Given the description of an element on the screen output the (x, y) to click on. 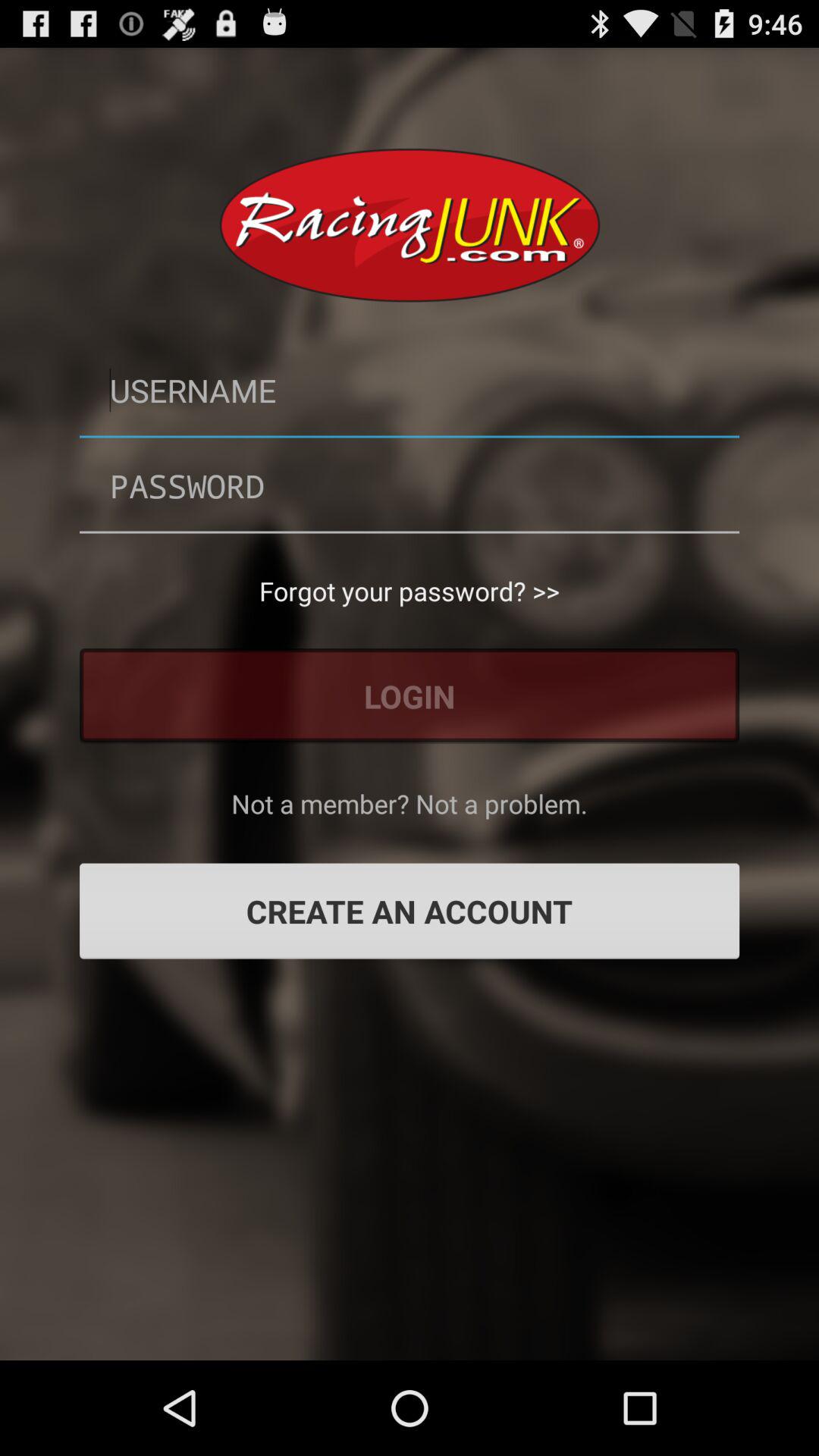
click the button above the login button (409, 590)
